Given the description of an element on the screen output the (x, y) to click on. 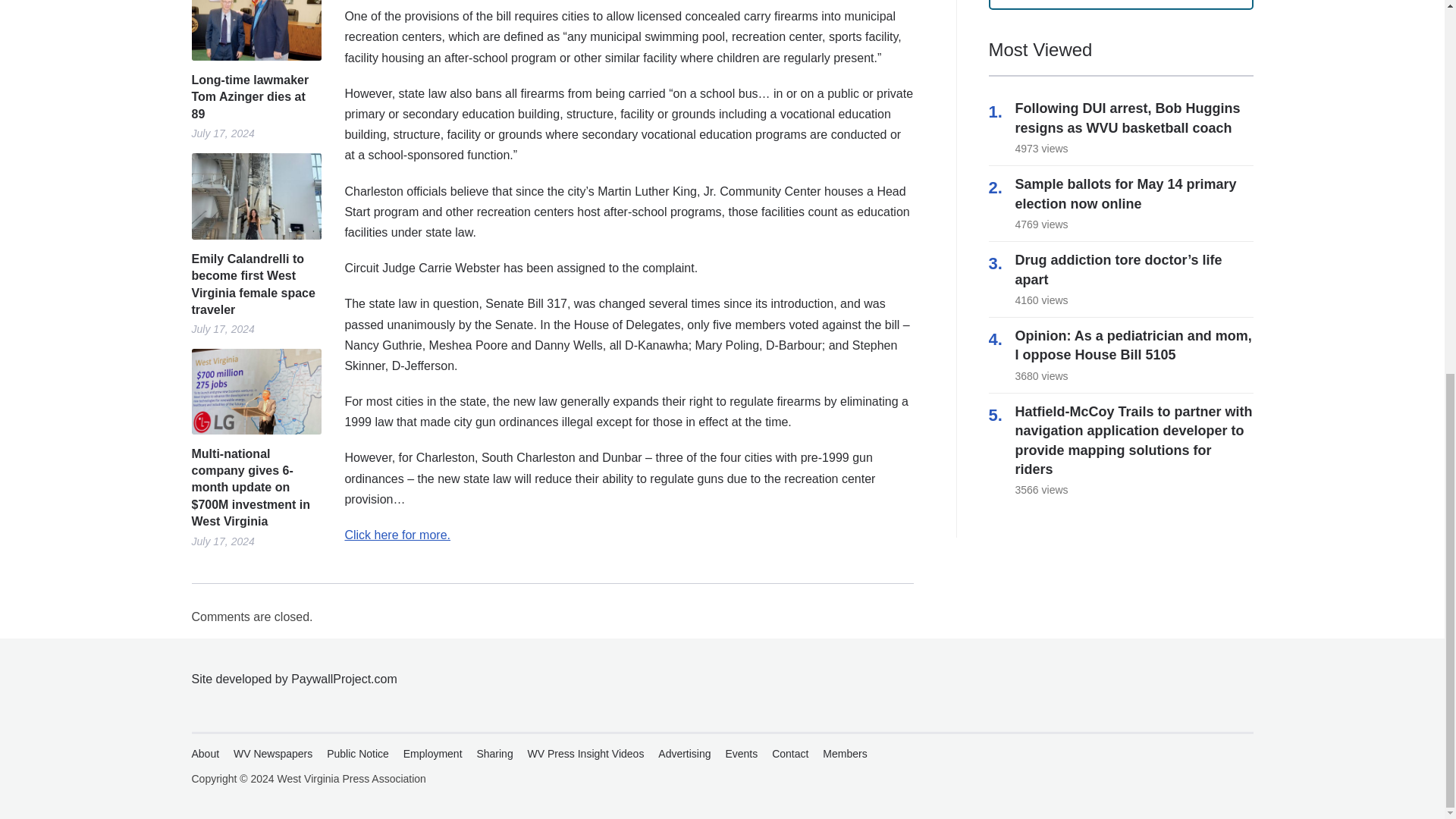
Permalink to Long-time lawmaker Tom Azinger dies at 89 (255, 97)
Permalink to Long-time lawmaker Tom Azinger dies at 89 (255, 30)
